Given the description of an element on the screen output the (x, y) to click on. 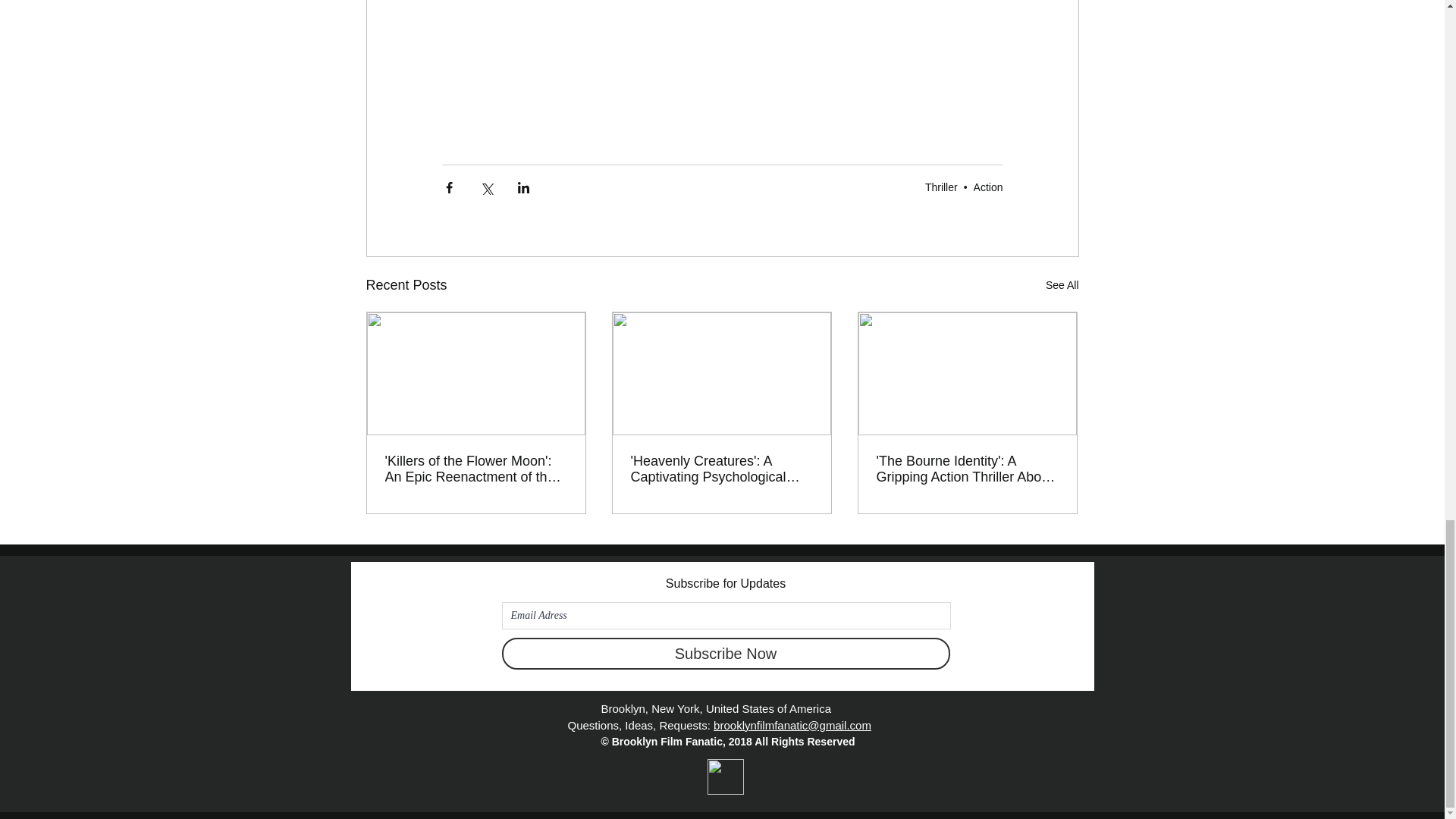
See All (1061, 285)
Action (988, 186)
Thriller (941, 186)
Subscribe Now (726, 653)
